Given the description of an element on the screen output the (x, y) to click on. 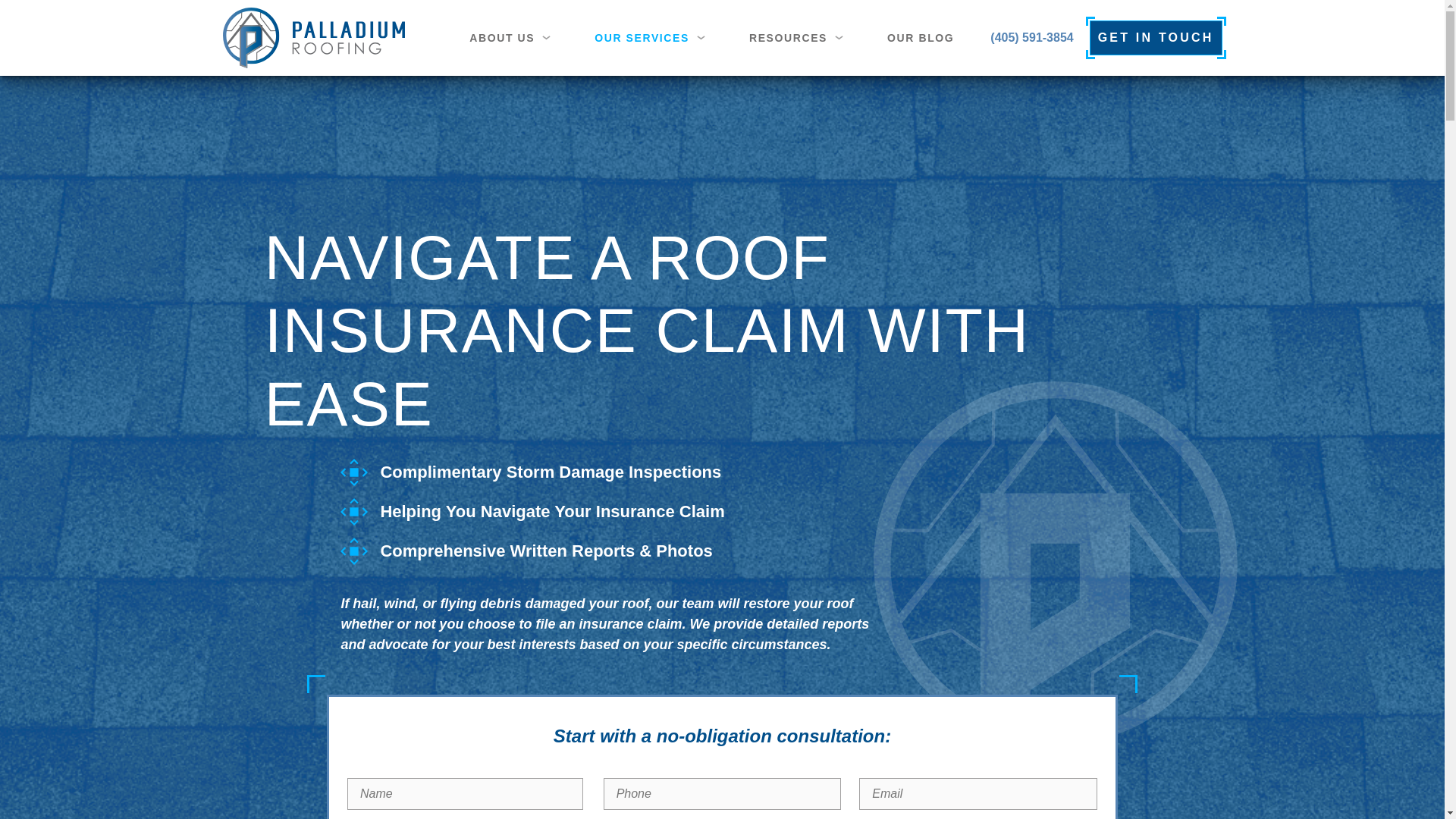
GET IN TOUCH (1156, 37)
OUR BLOG (919, 37)
RESOURCES (799, 37)
OUR SERVICES (653, 37)
ABOUT US (512, 37)
